Given the description of an element on the screen output the (x, y) to click on. 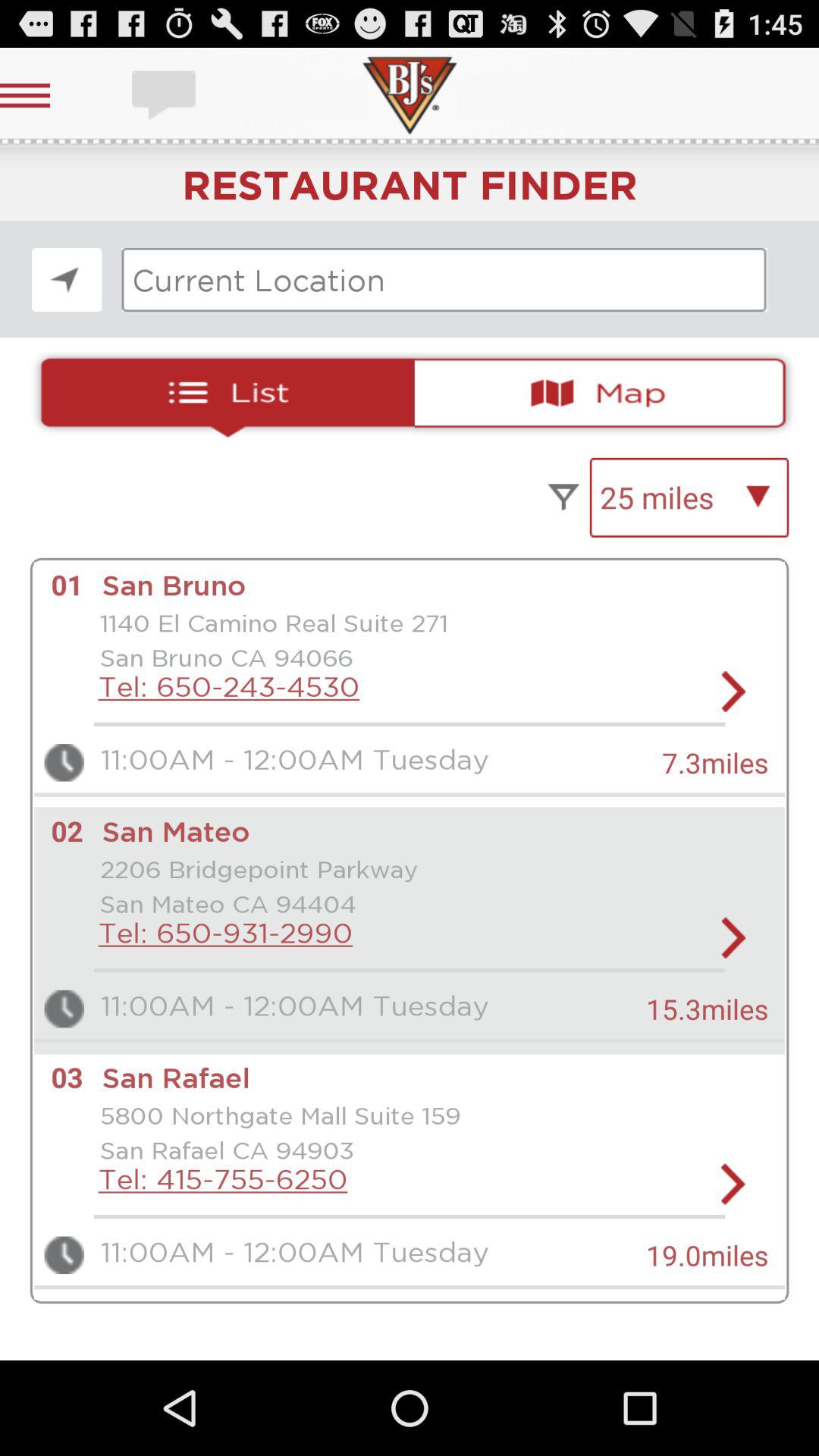
open chatbox (165, 95)
